Given the description of an element on the screen output the (x, y) to click on. 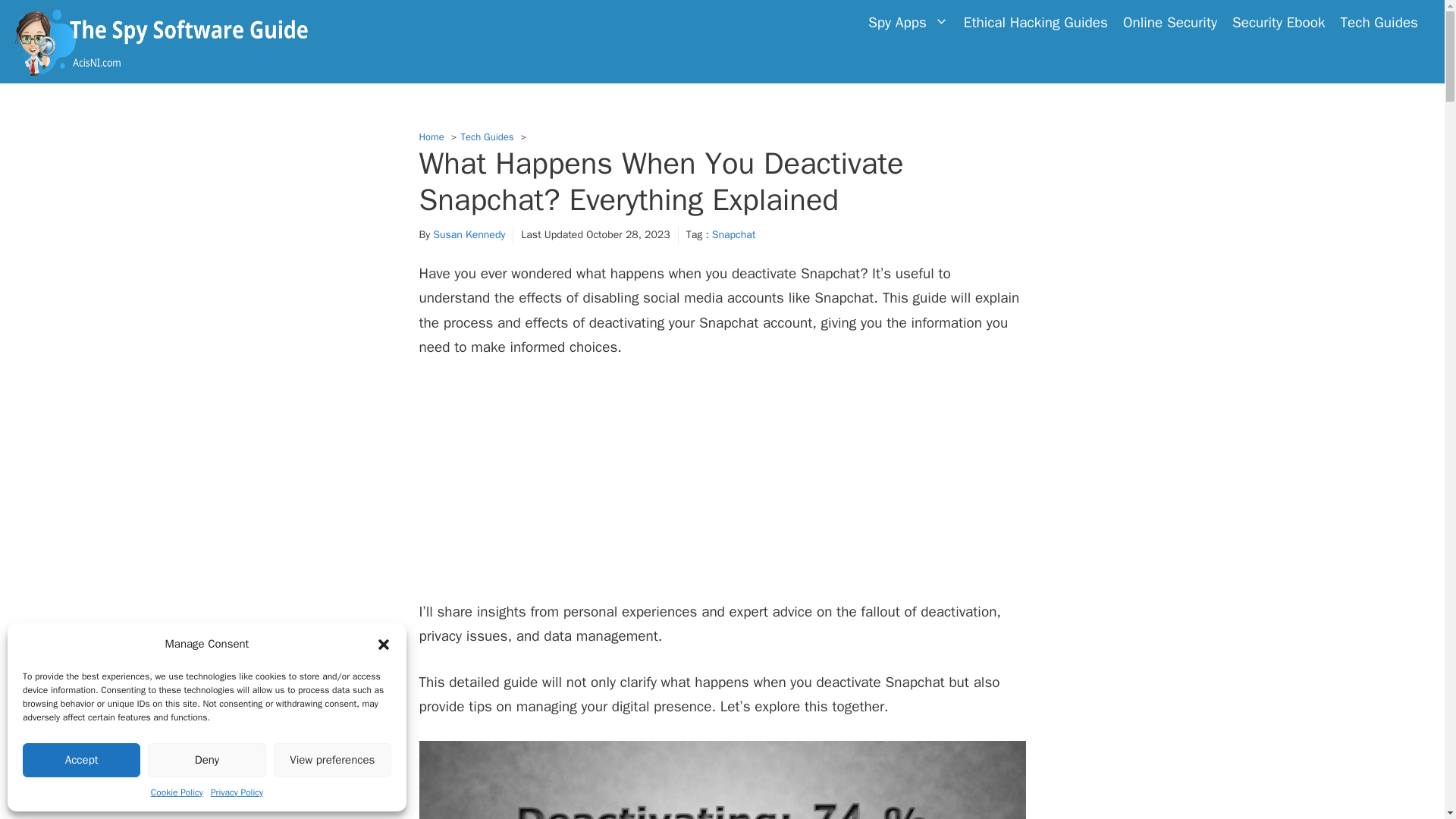
Tech Guides (486, 136)
online security (1169, 22)
View preferences (332, 759)
Deny (206, 759)
spy apps (908, 22)
Home (431, 136)
hacking guides (1035, 22)
technology guides (1379, 22)
Advertisement (722, 487)
Spy Apps (908, 22)
Online Security (1169, 22)
Privacy Policy (237, 792)
Susan Kennedy (468, 234)
Ethical Hacking Guides (1035, 22)
Security Ebook (1278, 22)
